Given the description of an element on the screen output the (x, y) to click on. 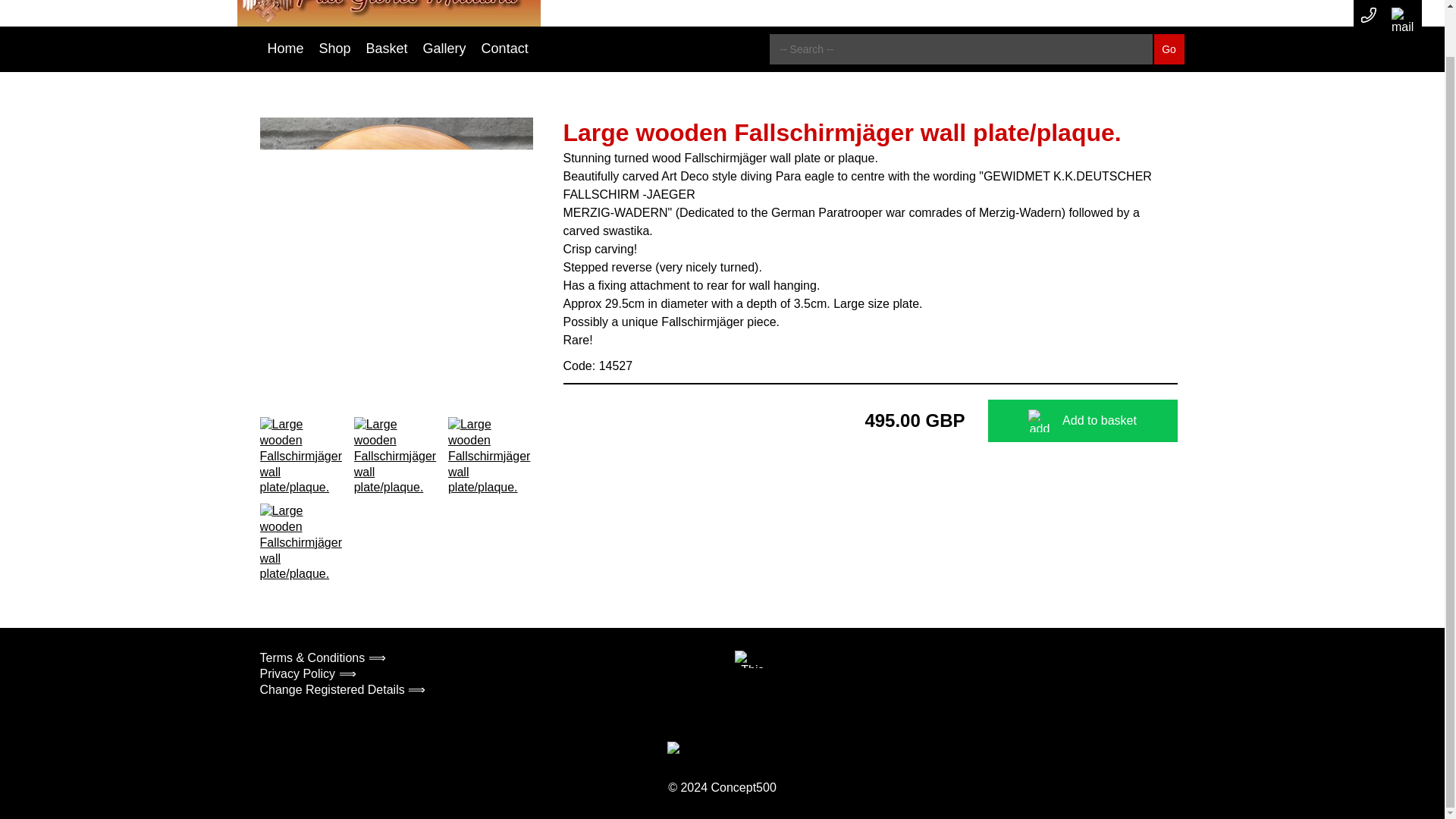
Contact (504, 48)
Concept500 (743, 787)
Basket (386, 48)
Add to basket (1081, 420)
Home (285, 48)
Gallery (444, 48)
Cardsave (698, 749)
Logo (387, 13)
Go (1169, 49)
add to basket (1039, 420)
